Given the description of an element on the screen output the (x, y) to click on. 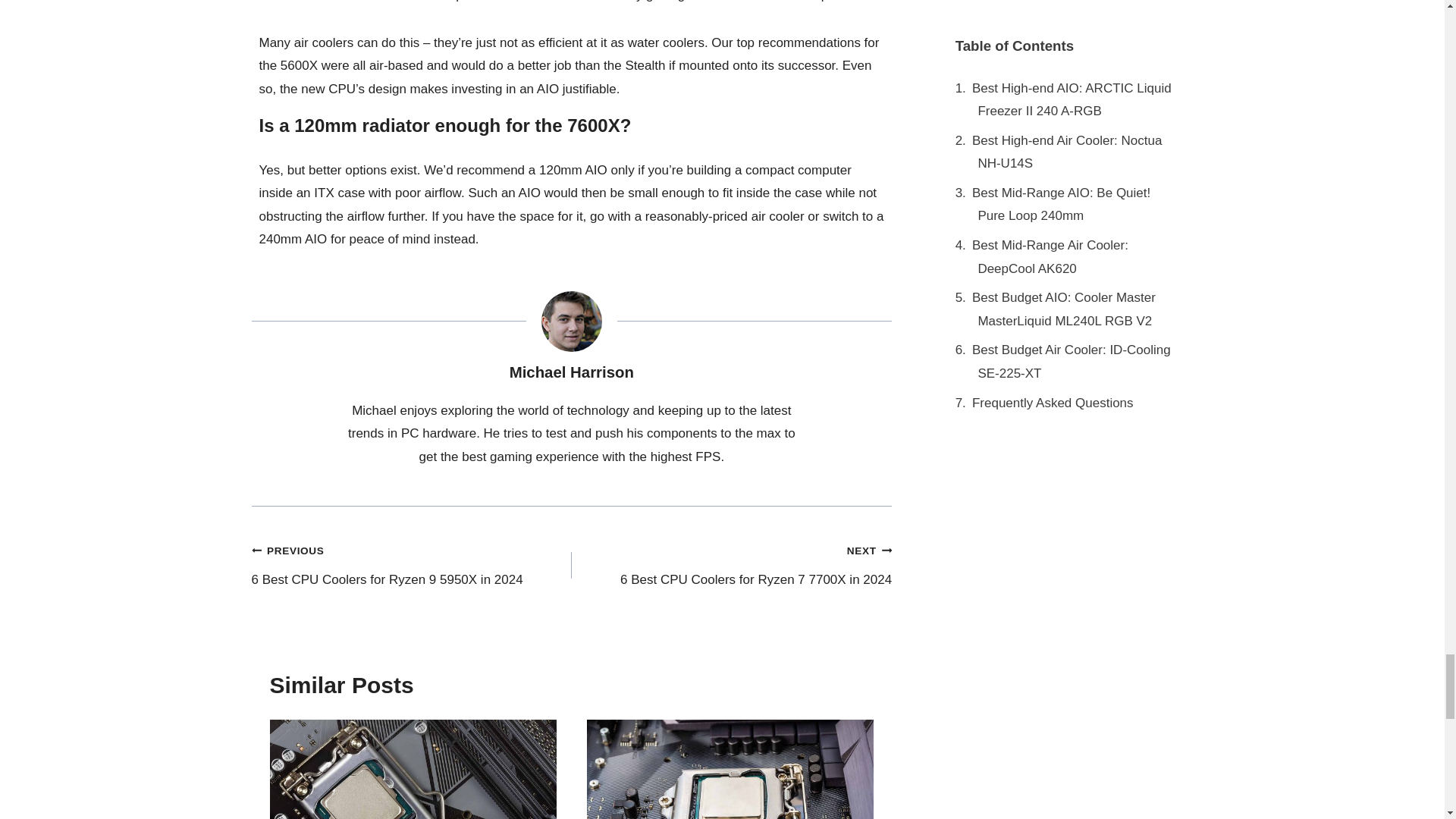
Posts by Michael Harrison (571, 371)
